Given the description of an element on the screen output the (x, y) to click on. 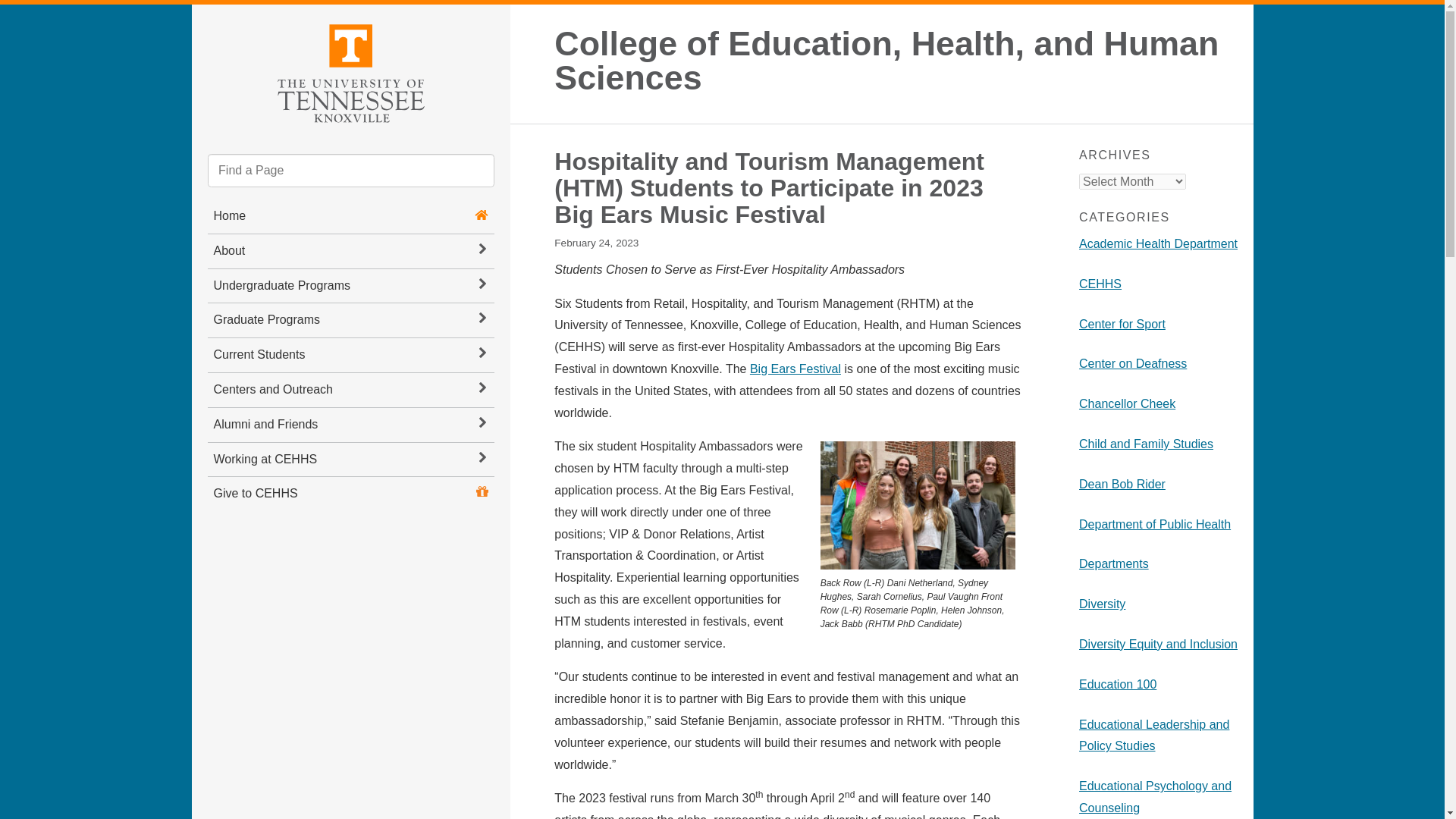
The University of Tennessee, Knoxville (349, 70)
About (351, 251)
Skip to content (204, 17)
Home (230, 215)
Undergraduate Programs (351, 286)
Skip to content (204, 17)
Current Students (351, 355)
College of Education, Health, and Human Sciences (897, 60)
